Given the description of an element on the screen output the (x, y) to click on. 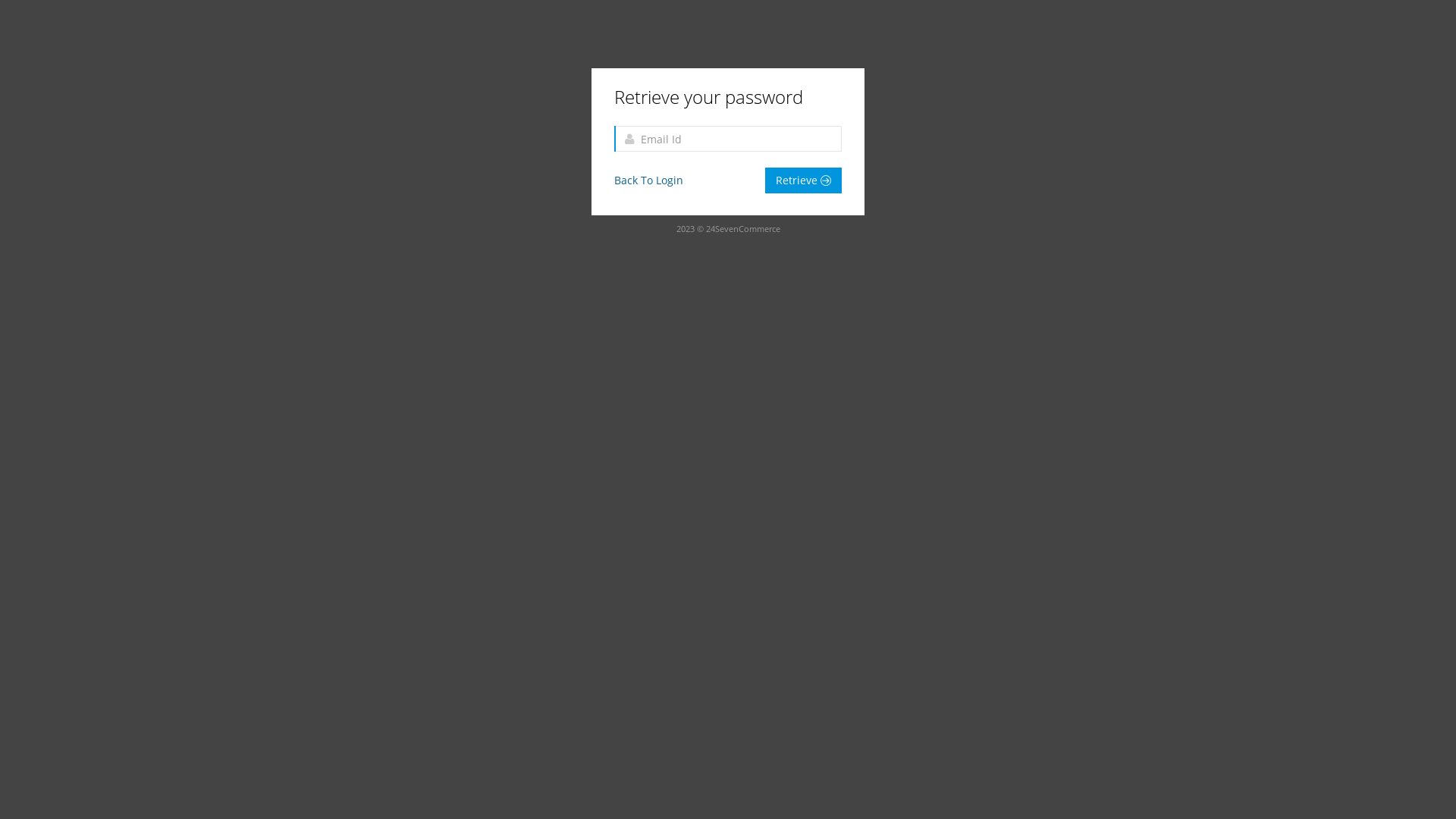
Retrieve Element type: text (803, 180)
Back To Login Element type: text (648, 179)
